Given the description of an element on the screen output the (x, y) to click on. 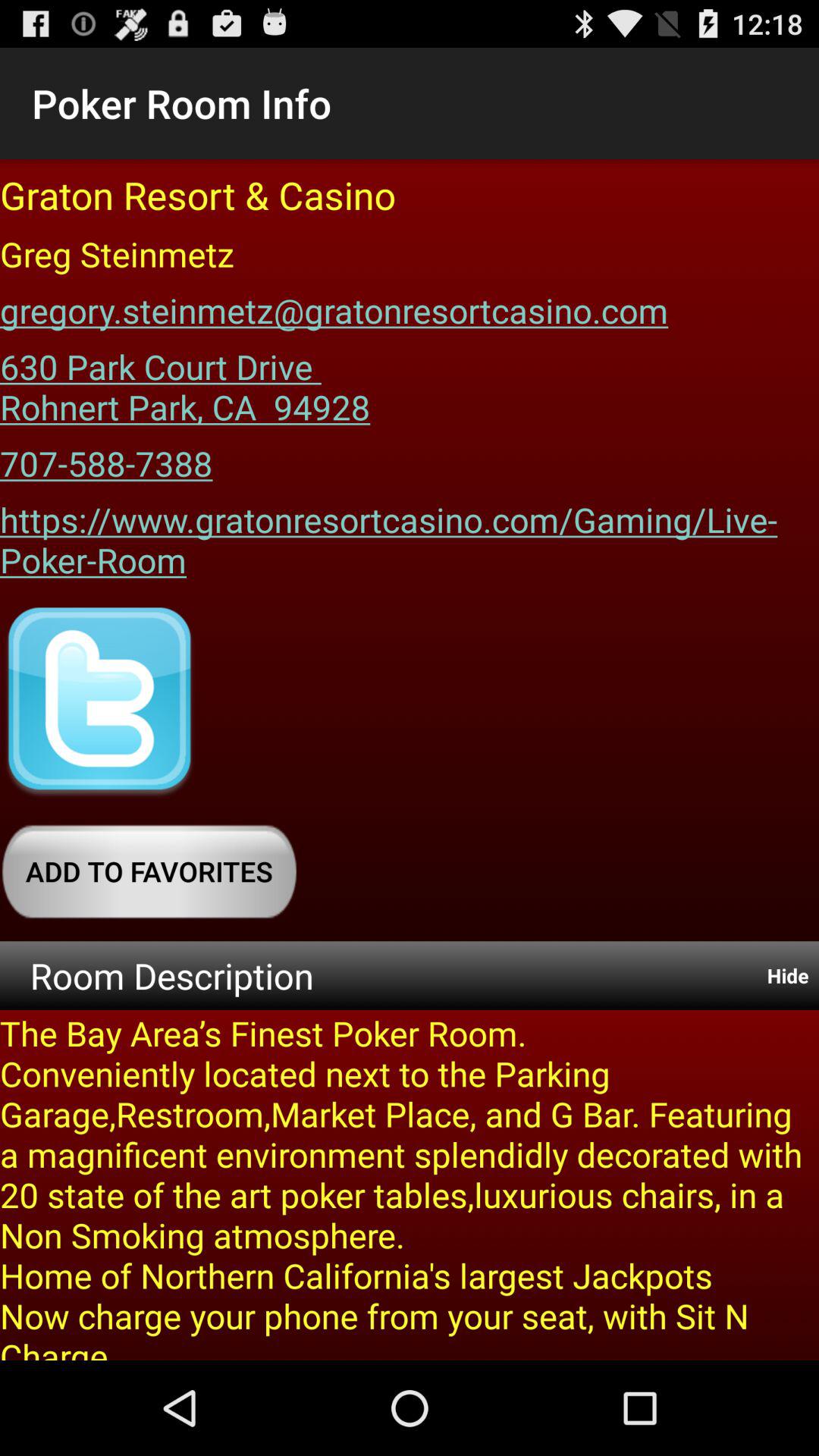
turn off icon above the 630 park court icon (334, 304)
